Given the description of an element on the screen output the (x, y) to click on. 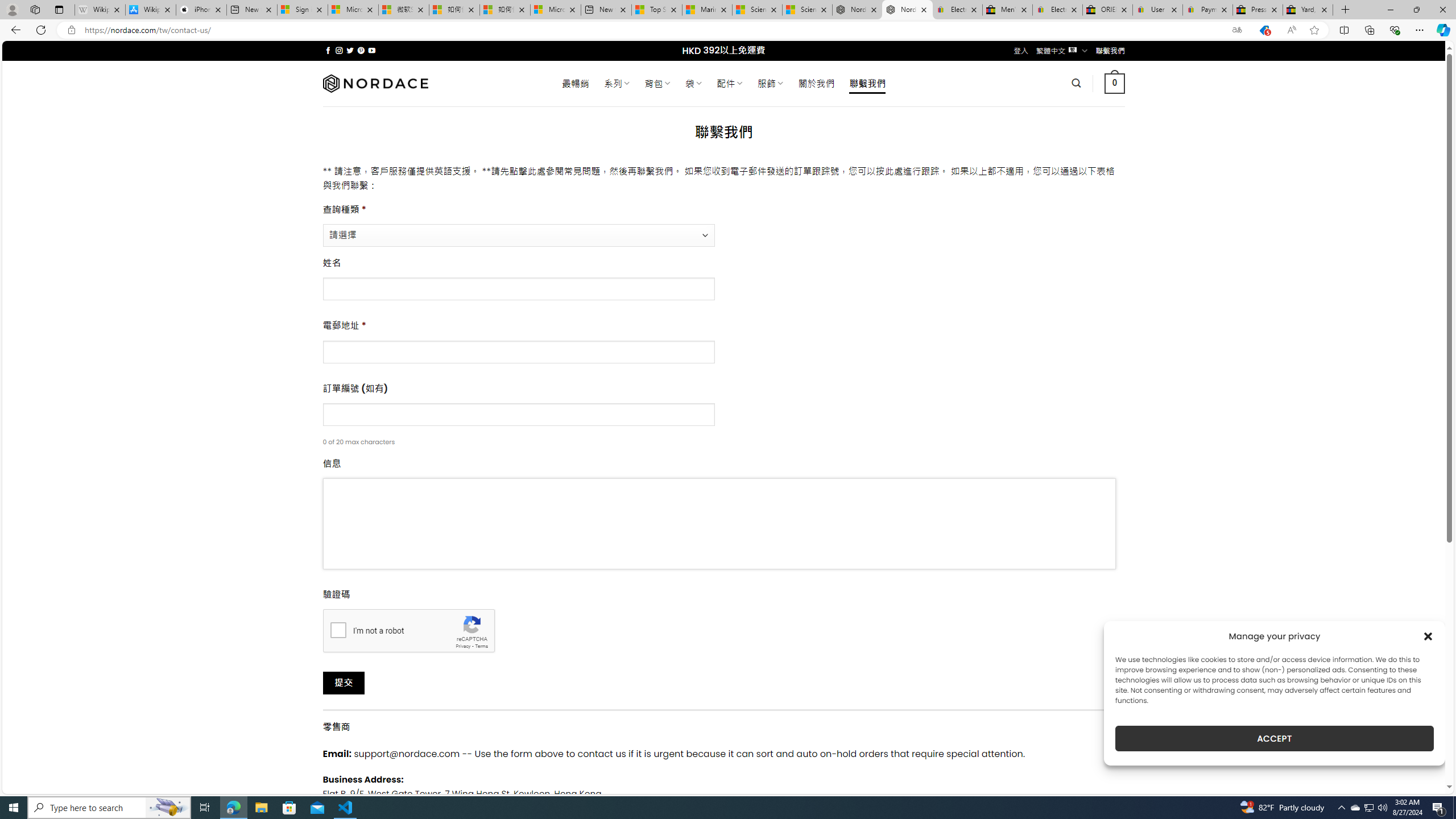
Class: cmplz-close (1428, 636)
Follow on Twitter (349, 50)
